Given the description of an element on the screen output the (x, y) to click on. 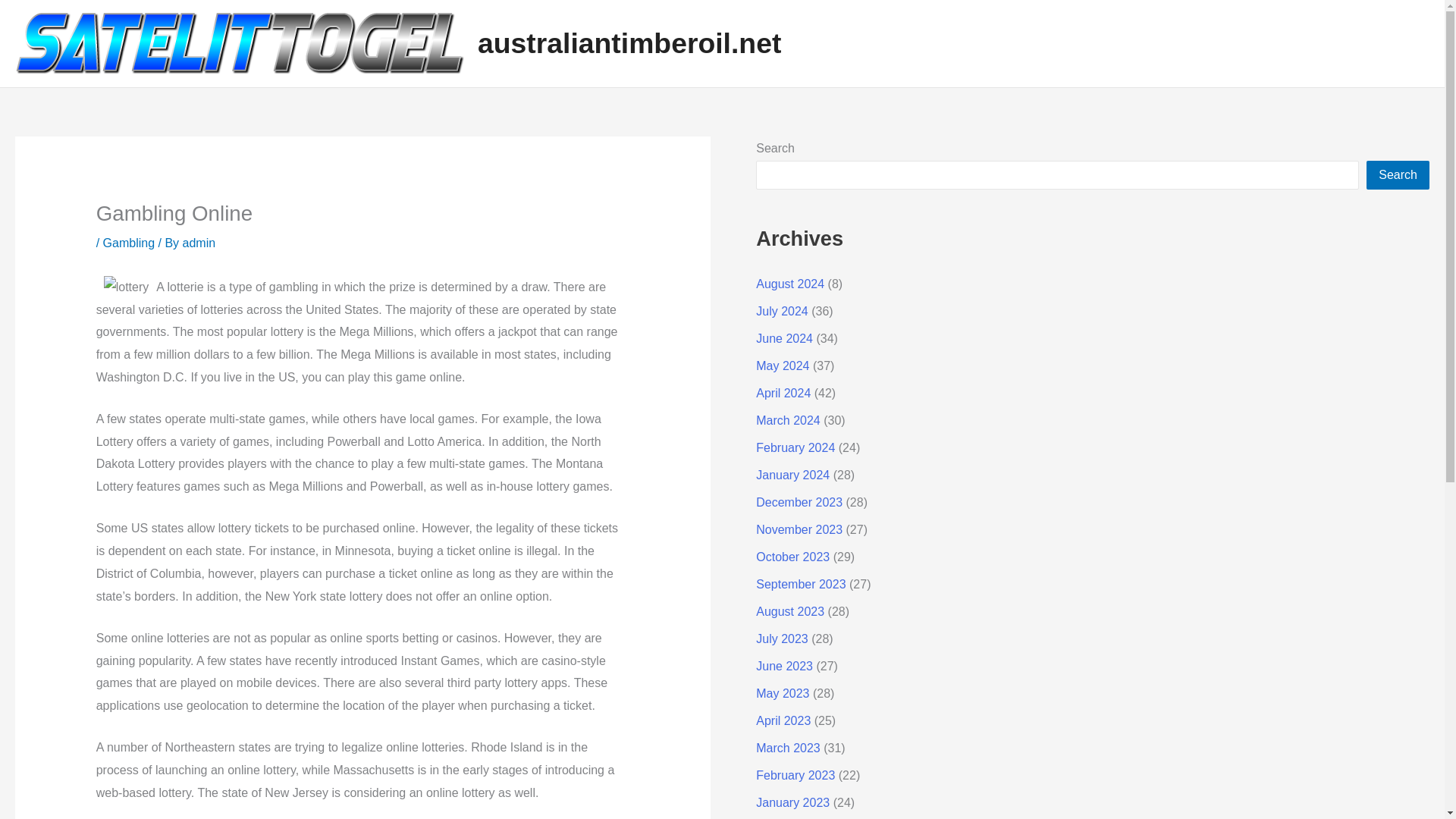
May 2023 (782, 693)
Gambling (128, 242)
December 2023 (799, 502)
June 2024 (783, 338)
April 2024 (782, 392)
April 2023 (782, 720)
February 2024 (794, 447)
March 2024 (788, 420)
August 2023 (789, 611)
admin (199, 242)
